Given the description of an element on the screen output the (x, y) to click on. 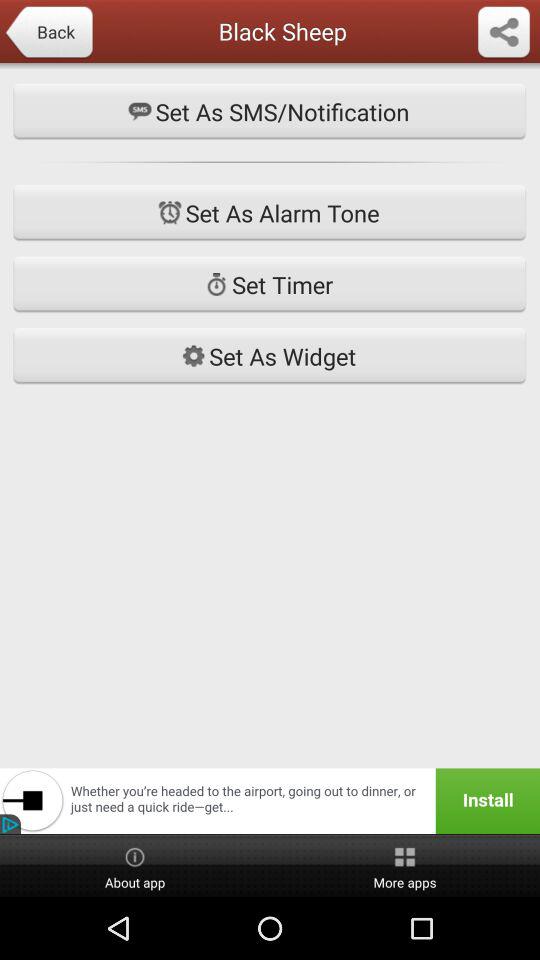
scroll to the about app (135, 866)
